Given the description of an element on the screen output the (x, y) to click on. 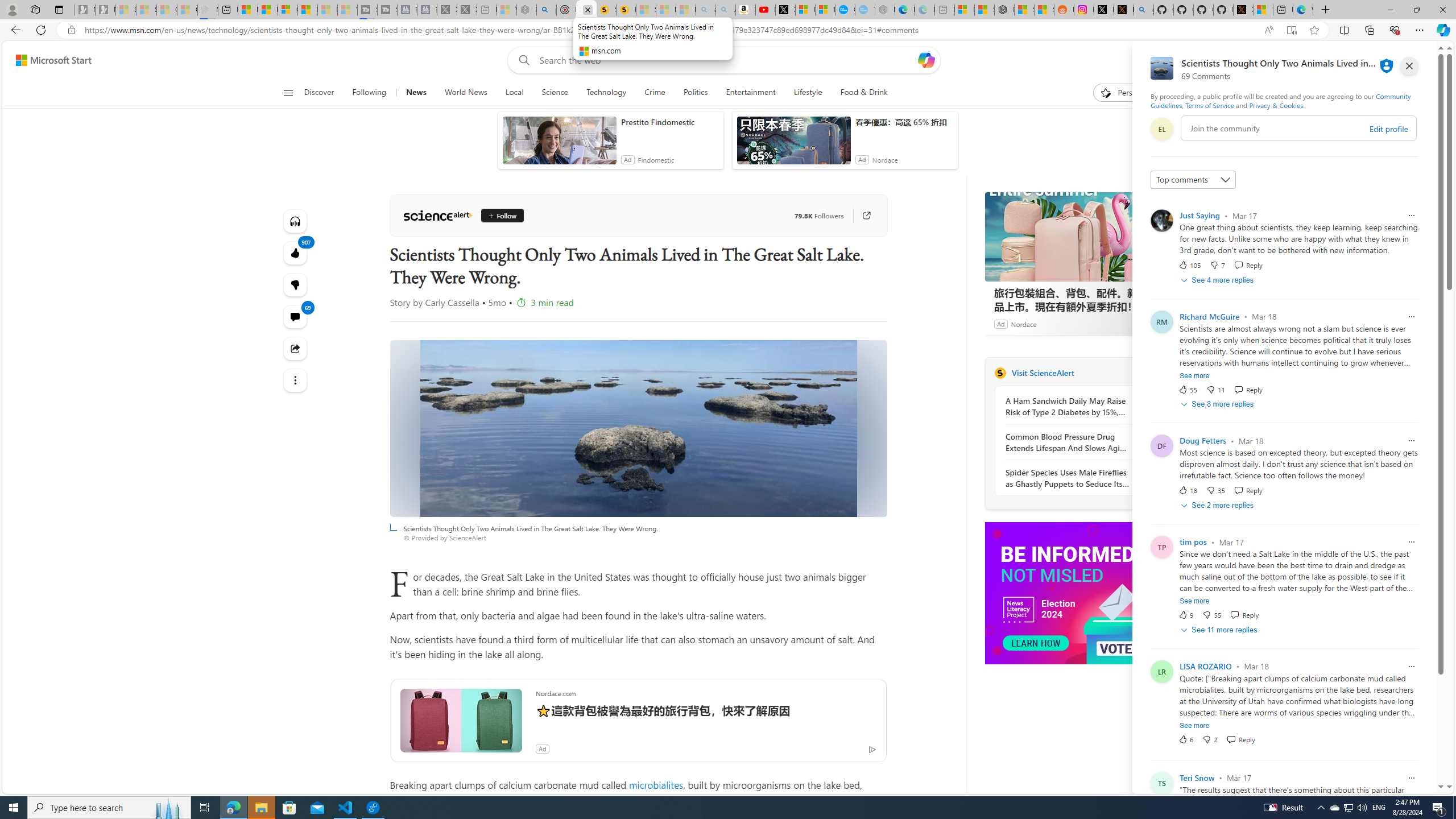
Address and search bar (669, 29)
anim-content (793, 144)
Prestito Findomestic (669, 121)
Nordace - Summer Adventures 2024 - Sleeping (526, 9)
Politics (695, 92)
See 2 more replies (1218, 505)
Nordace - Nordace has arrived Hong Kong - Sleeping (884, 9)
More like this907Fewer like thisView comments (295, 284)
Report comment (1411, 777)
